Given the description of an element on the screen output the (x, y) to click on. 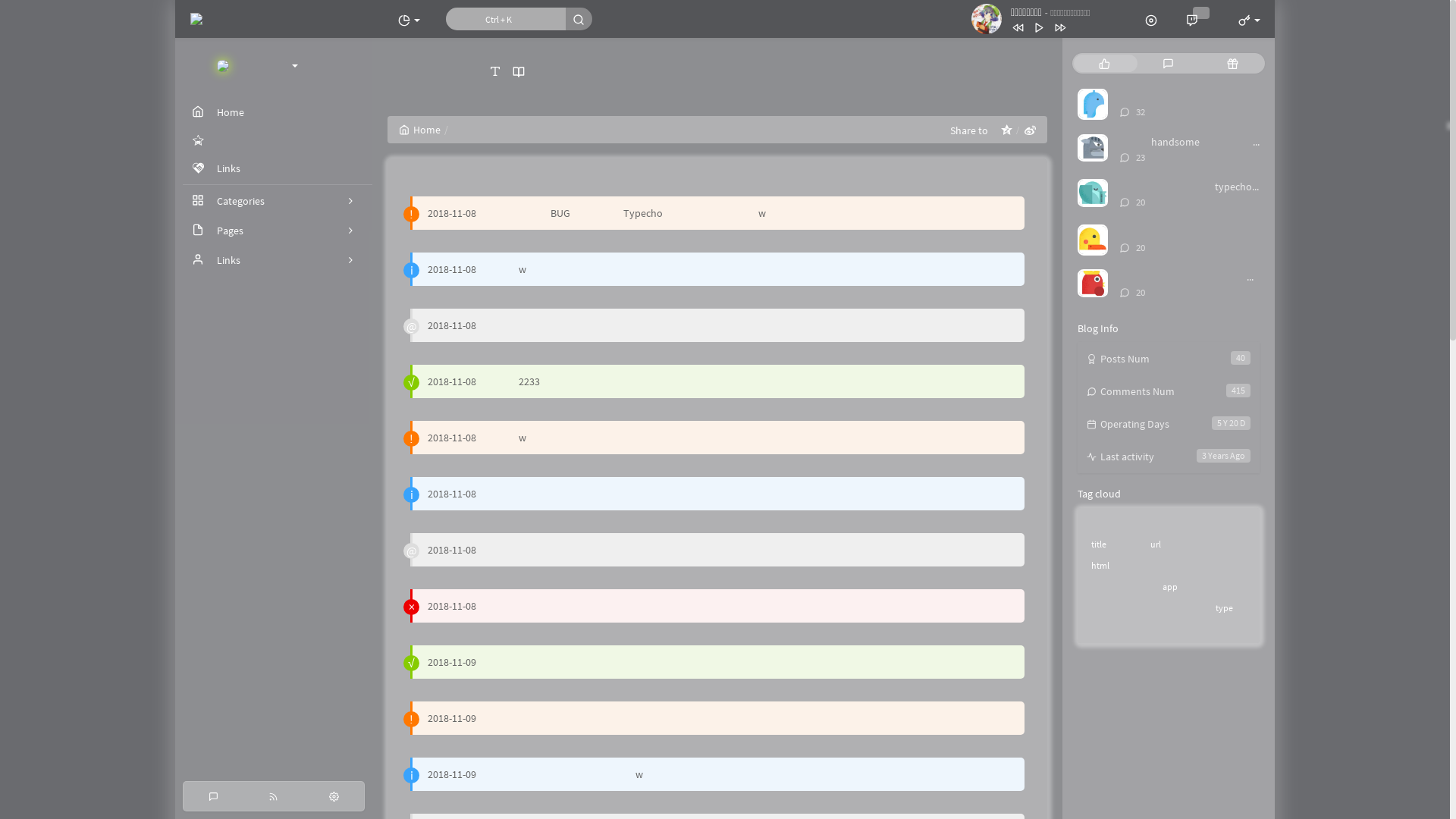
url Element type: text (1155, 544)
Home Element type: text (273, 112)
type Element type: text (1224, 608)
html Element type: text (1099, 565)
Categories Element type: text (273, 200)
Popular articles Element type: text (1104, 63)
Random articles Element type: text (1232, 63)
Pages Element type: text (273, 230)
Home Element type: text (419, 129)
Links Element type: text (273, 168)
Links Element type: text (273, 259)
title Element type: text (1098, 544)
app Element type: text (1170, 586)
Latest comments Element type: text (1168, 63)
